Given the description of an element on the screen output the (x, y) to click on. 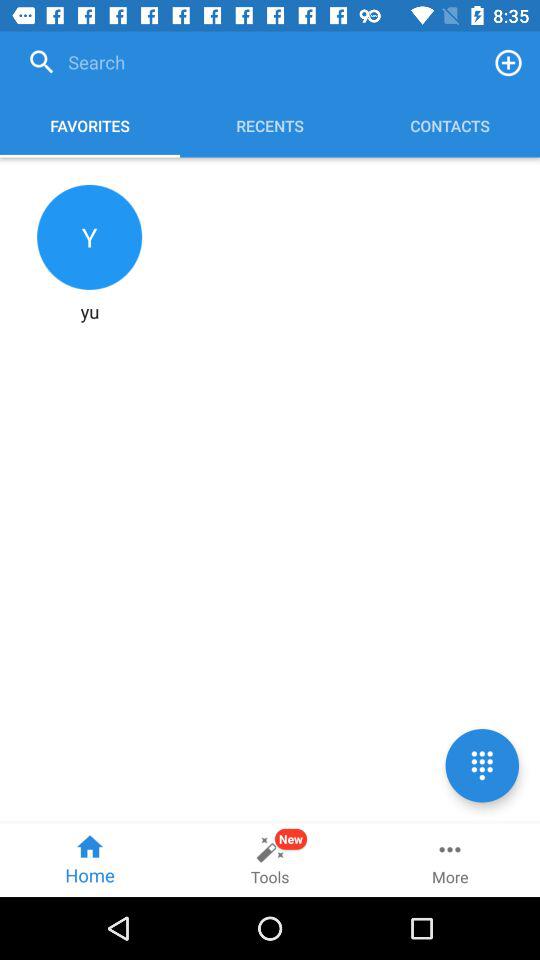
open keypad (482, 765)
